Given the description of an element on the screen output the (x, y) to click on. 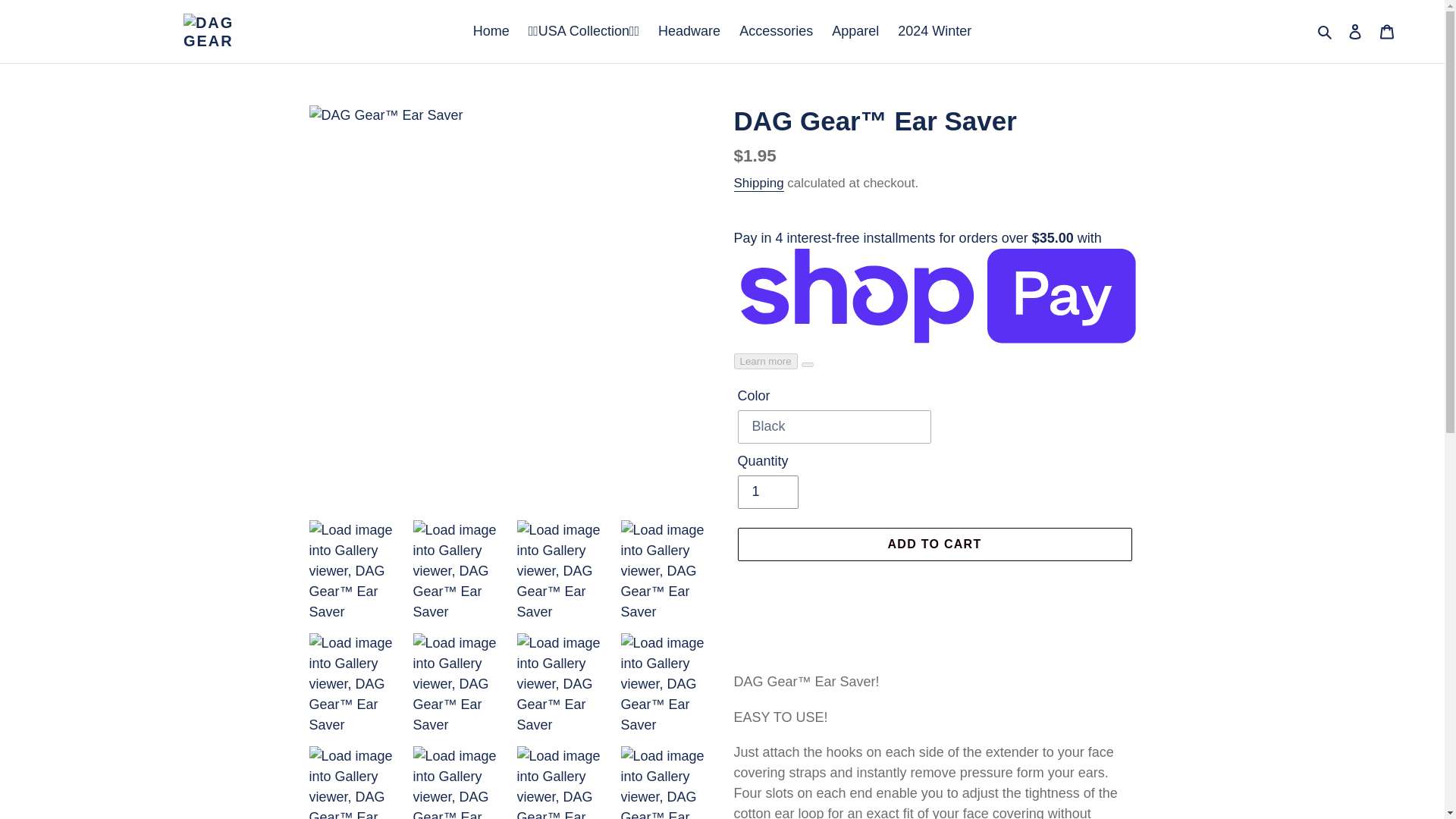
1 (766, 491)
Home (490, 31)
Shipping (758, 183)
ADD TO CART (933, 544)
Apparel (855, 31)
Headware (689, 31)
Cart (1387, 31)
Log in (1355, 31)
2024 Winter (933, 31)
Accessories (776, 31)
Search (1326, 31)
